Given the description of an element on the screen output the (x, y) to click on. 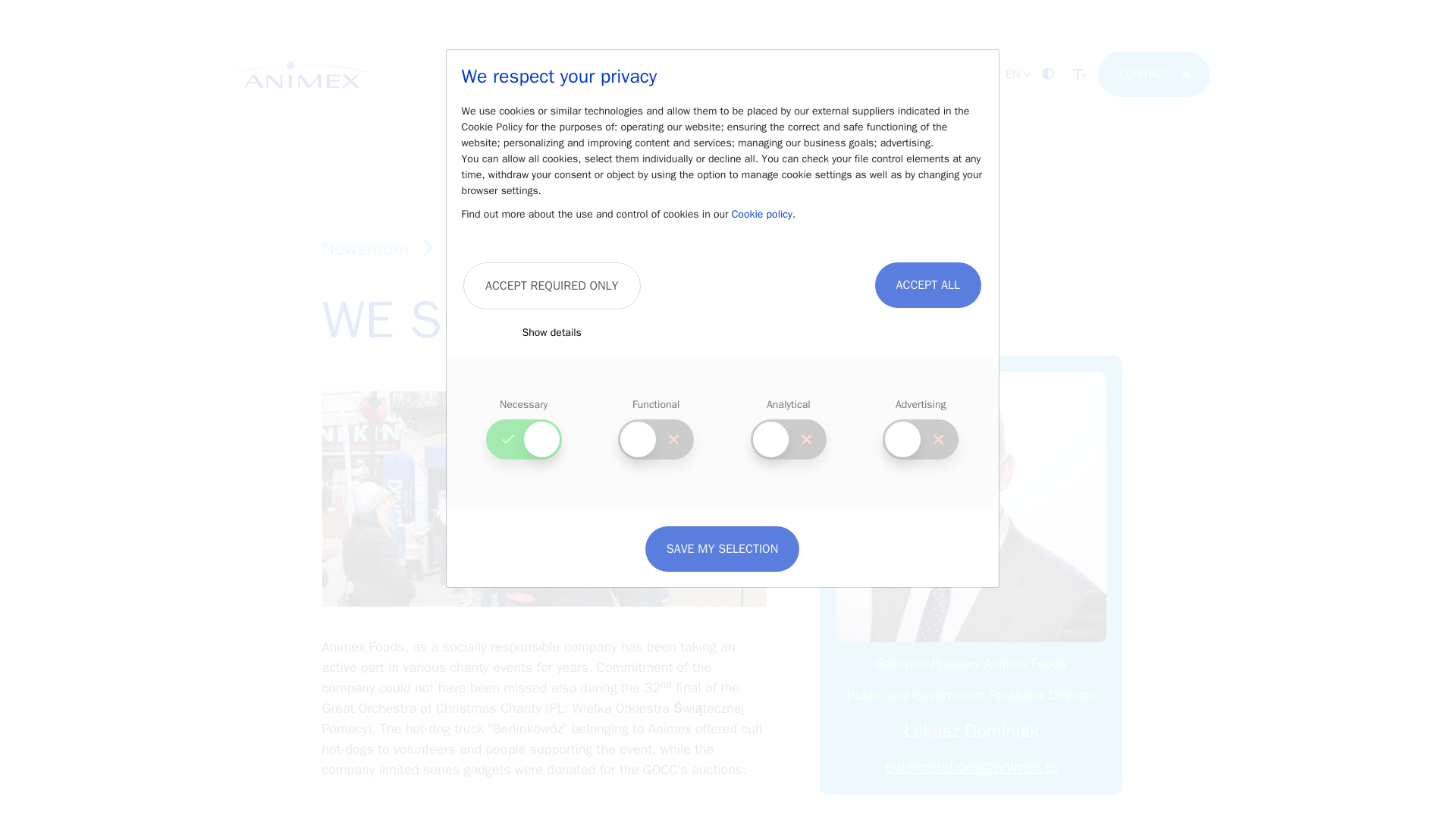
Newsroom (764, 73)
Get to know us (539, 73)
Our brands (685, 73)
Career (617, 73)
